Given the description of an element on the screen output the (x, y) to click on. 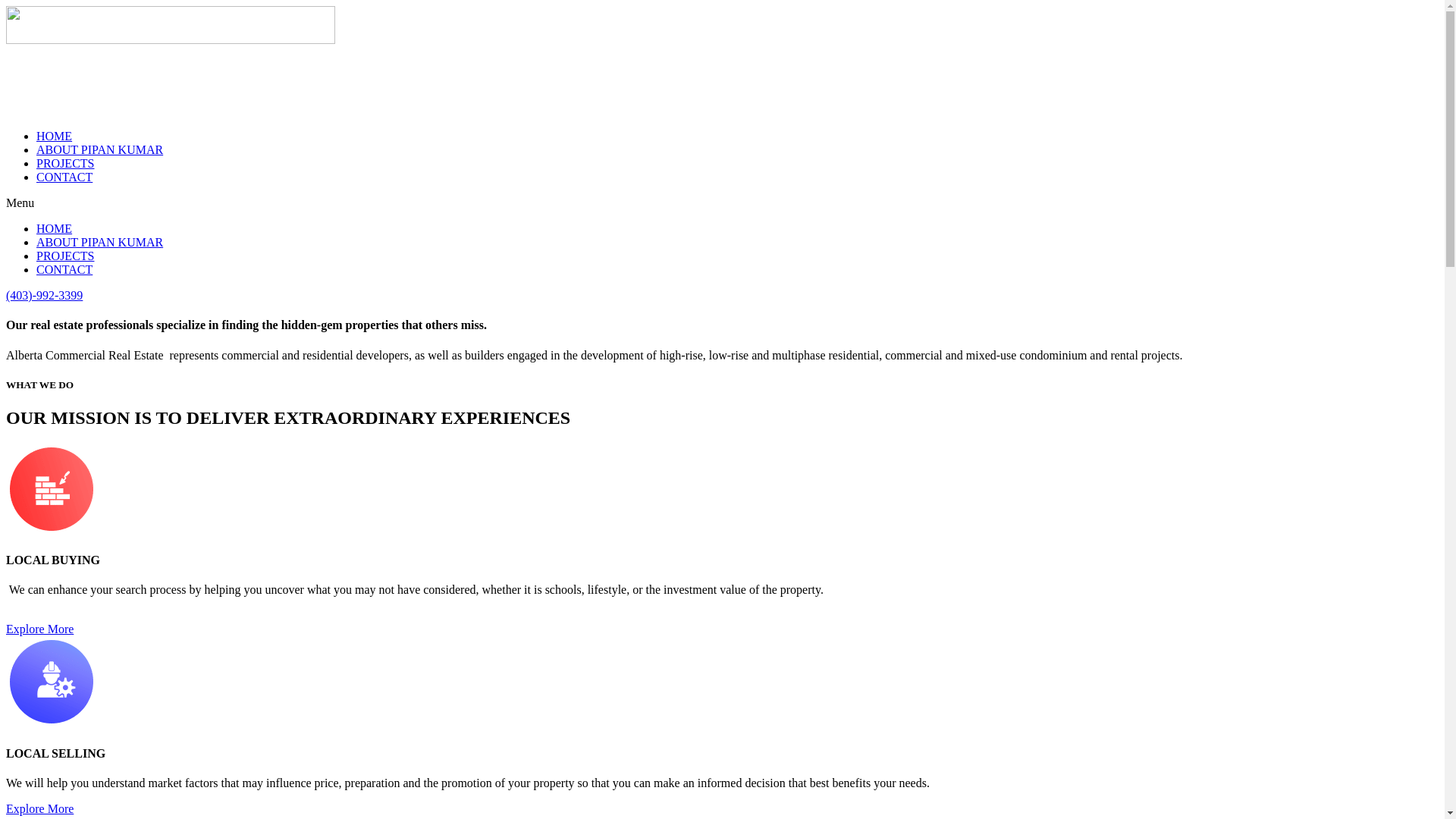
ABOUT PIPAN KUMAR Element type: text (99, 241)
HOME Element type: text (54, 135)
(403)-992-3399 Element type: text (44, 294)
ABOUT PIPAN KUMAR Element type: text (99, 149)
PROJECTS Element type: text (65, 162)
Explore More Element type: text (39, 808)
CONTACT Element type: text (64, 176)
HOME Element type: text (54, 228)
Explore More Element type: text (39, 628)
CONTACT Element type: text (64, 269)
PROJECTS Element type: text (65, 255)
